Given the description of an element on the screen output the (x, y) to click on. 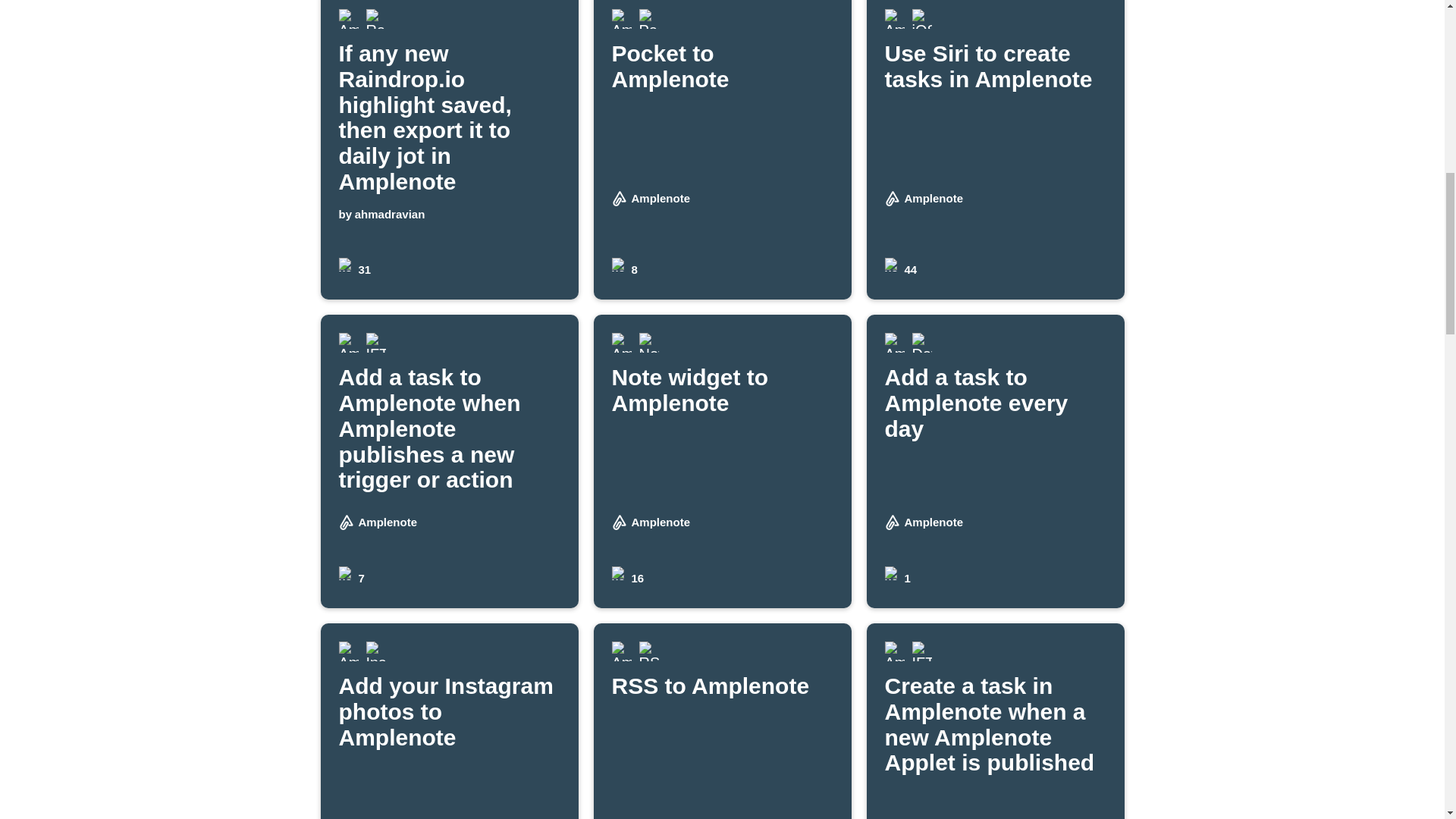
Amplenote (449, 721)
Raindrop.io (620, 18)
31 users enabled this Applet (375, 18)
Amplenote (357, 269)
